Given the description of an element on the screen output the (x, y) to click on. 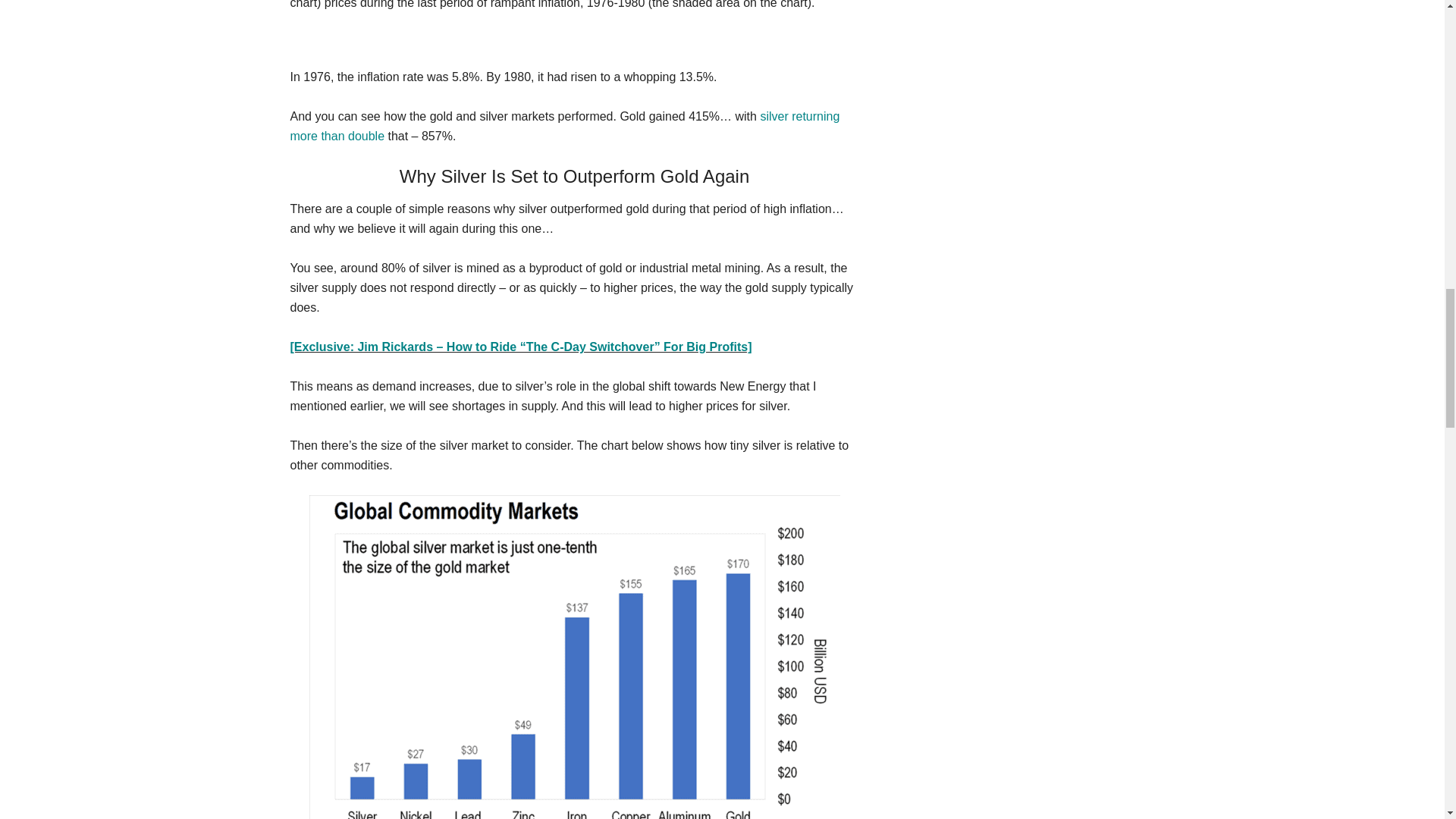
silver returning more than double (564, 125)
